Given the description of an element on the screen output the (x, y) to click on. 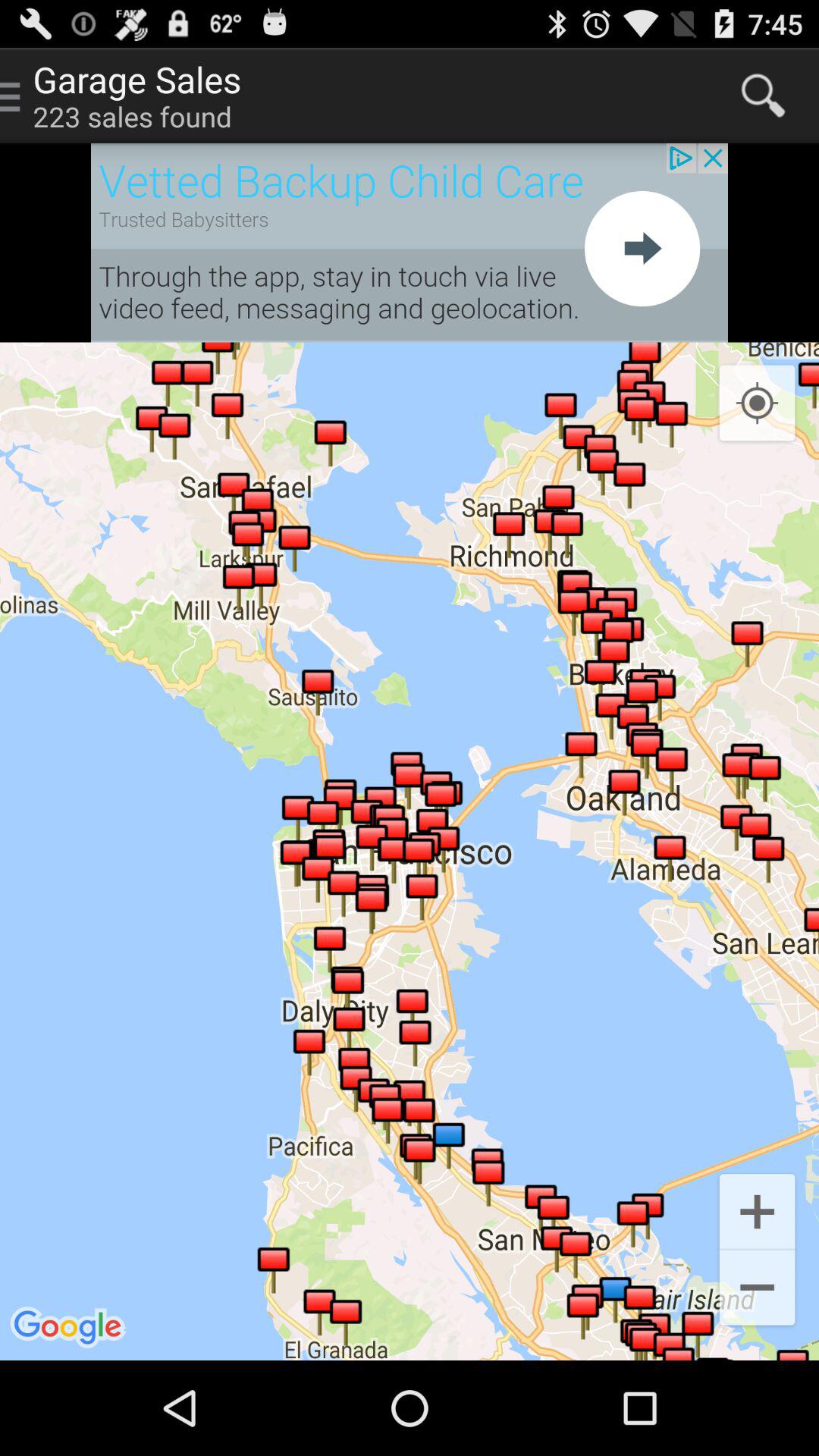
click the advertisement (409, 242)
